Given the description of an element on the screen output the (x, y) to click on. 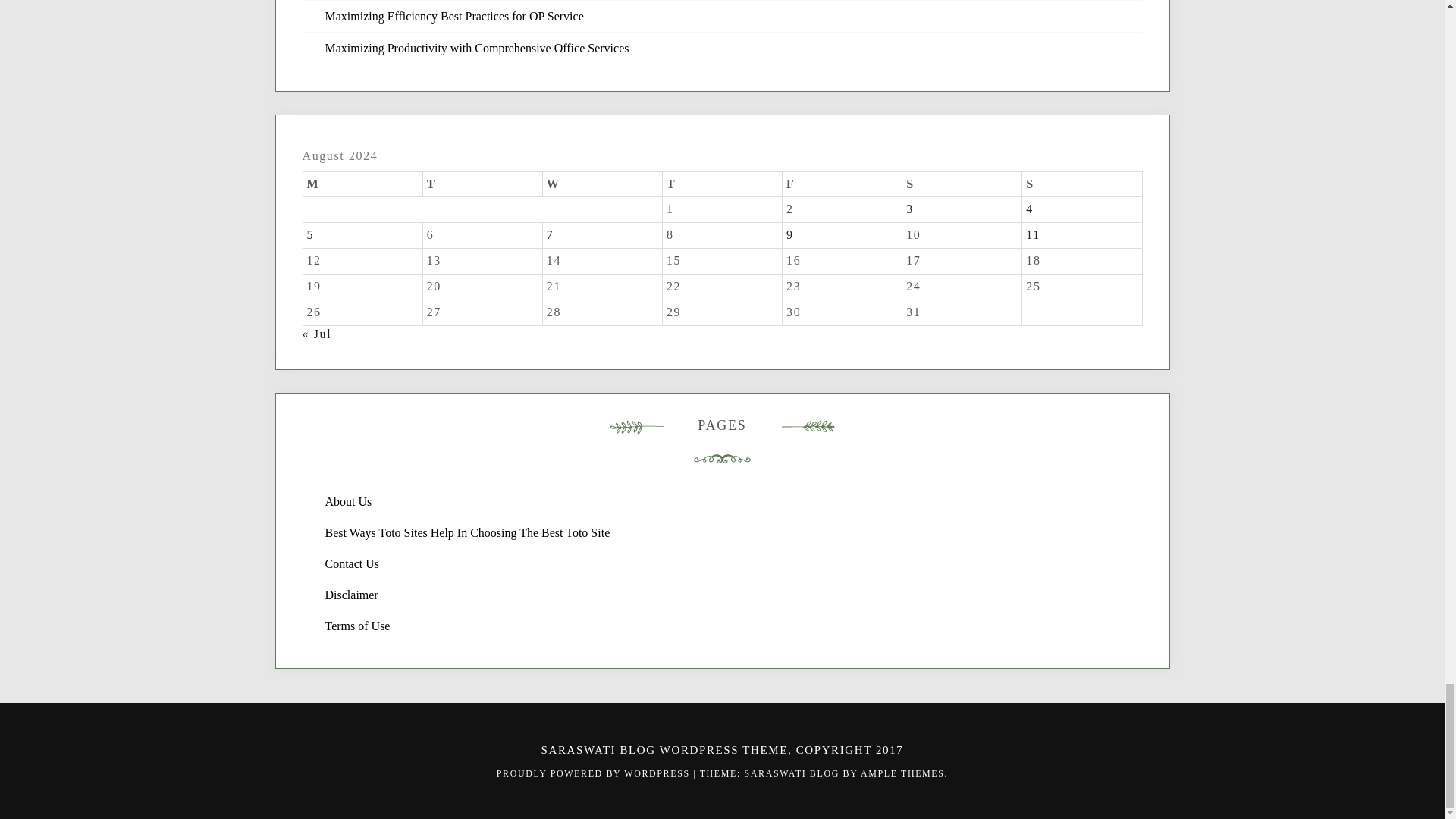
Tuesday (481, 184)
Sunday (1081, 184)
Friday (842, 184)
Thursday (721, 184)
Saturday (962, 184)
Wednesday (601, 184)
Monday (362, 184)
